Given the description of an element on the screen output the (x, y) to click on. 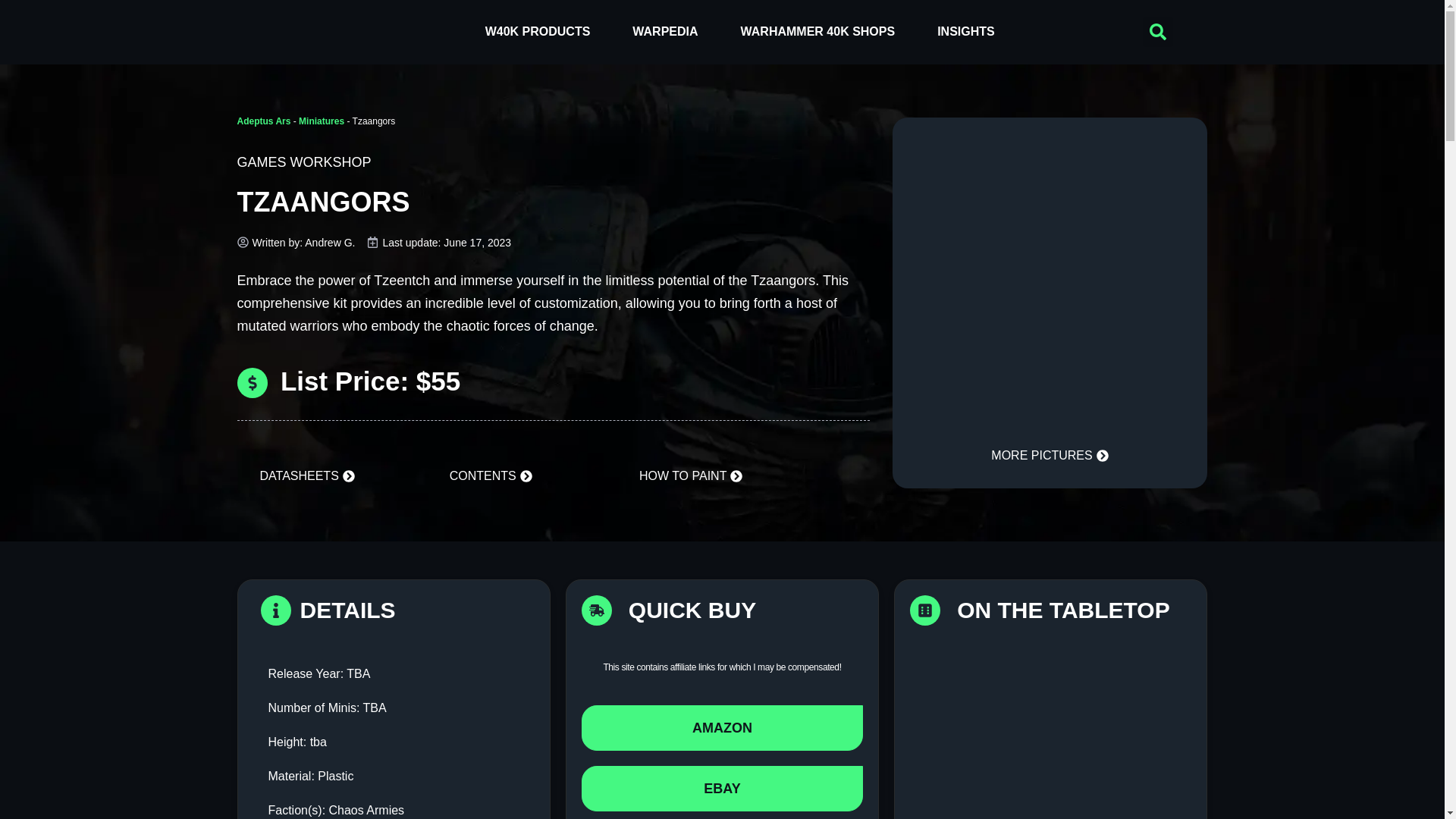
DATASHEETS (306, 477)
MORE PICTURES (1049, 456)
INSIGHTS (965, 31)
Miniatures (320, 121)
HOW TO PAINT (690, 477)
WARHAMMER 40K SHOPS (818, 31)
CONTENTS (490, 477)
WARPEDIA (665, 31)
W40K PRODUCTS (537, 31)
Adeptus Ars (262, 121)
